Given the description of an element on the screen output the (x, y) to click on. 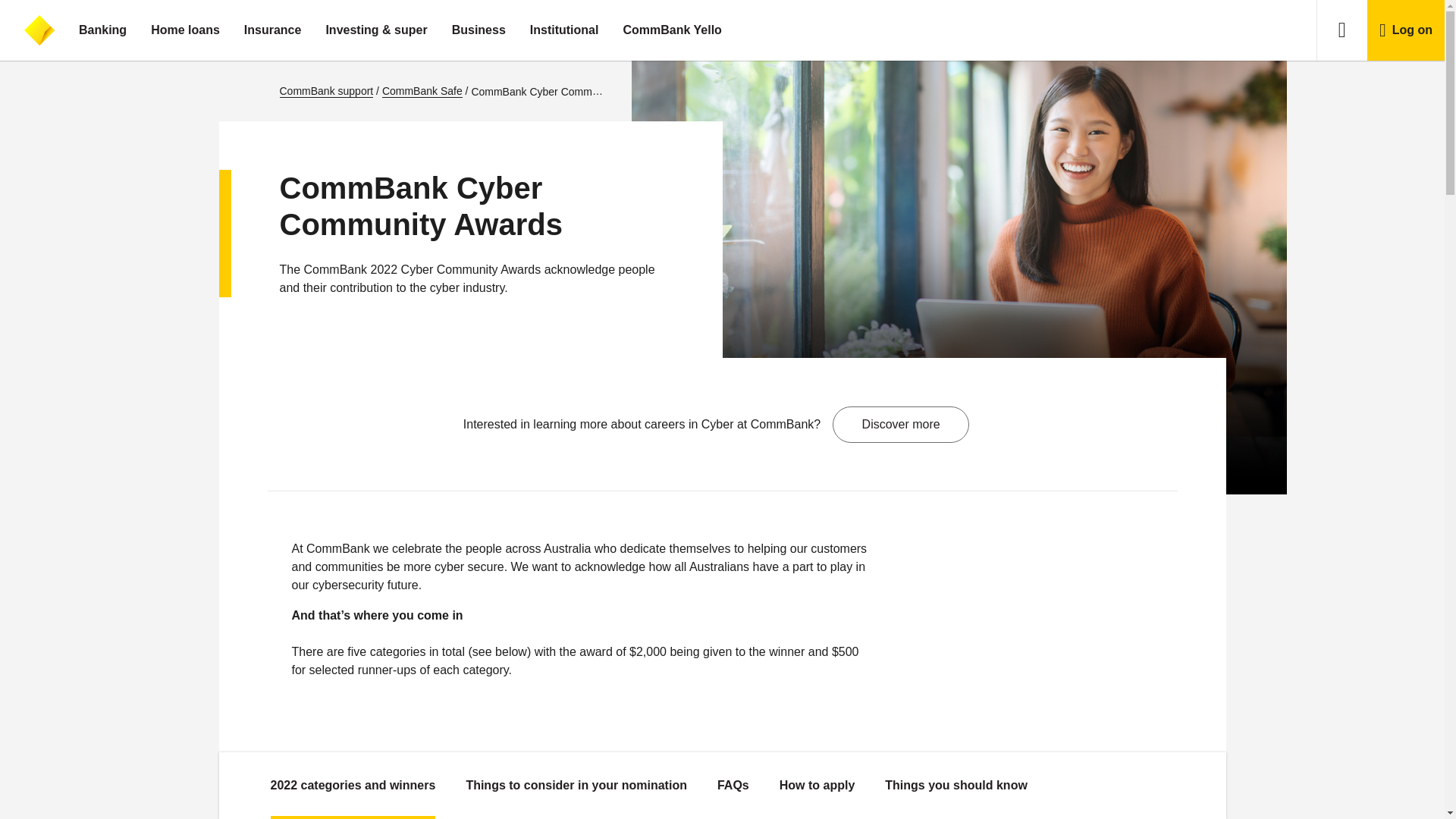
CommBank Yello (671, 30)
Institutional (563, 30)
CommBank Safe (422, 91)
Home loans (185, 30)
CommBank support (325, 91)
Insurance (272, 30)
CommBank support (325, 91)
